Given the description of an element on the screen output the (x, y) to click on. 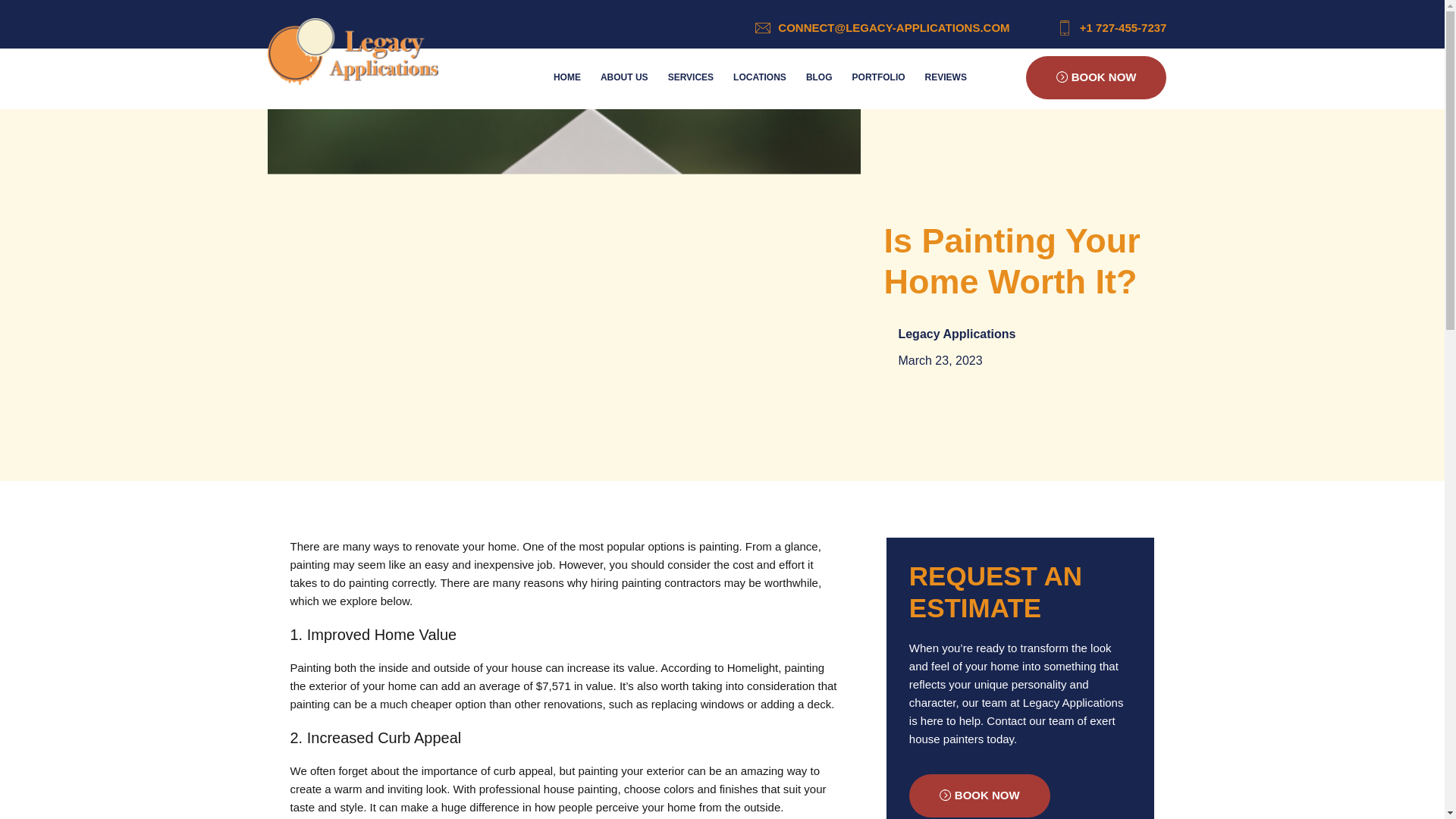
PORTFOLIO (879, 77)
SERVICES (690, 77)
LOCATIONS (759, 77)
BLOG (819, 77)
HOME (567, 77)
ABOUT US (624, 77)
REVIEWS (945, 77)
